Given the description of an element on the screen output the (x, y) to click on. 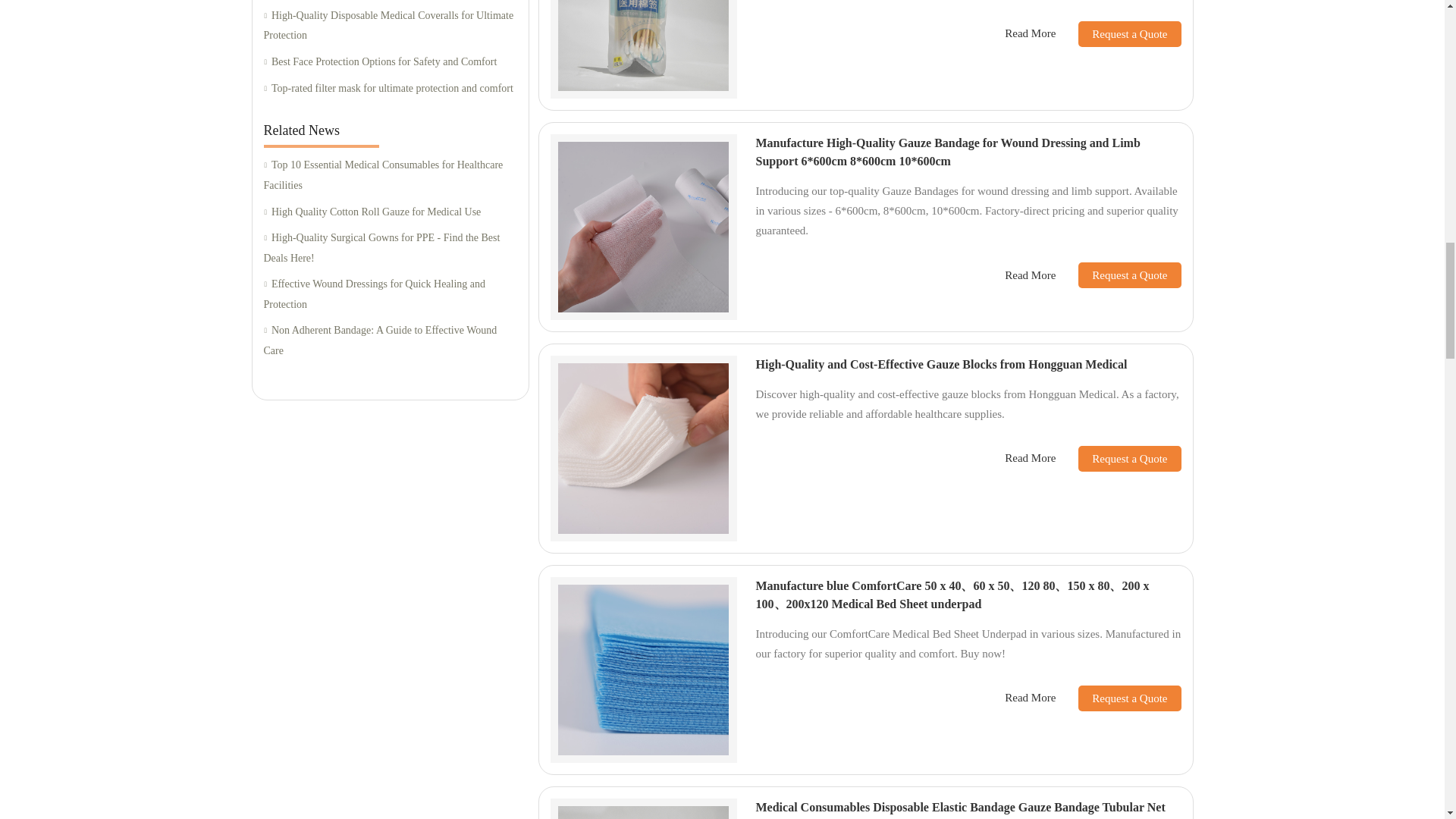
High Quality Cotton Roll Gauze for Medical Use (389, 211)
Best Face Protection Options for Safety and Comfort (389, 62)
Effective Wound Dressings for Quick Healing and Protection (389, 294)
Top-rated filter mask for ultimate protection and comfort (389, 88)
Read More (1029, 33)
Non Adherent Bandage: A Guide to Effective Wound Care (389, 341)
